Given the description of an element on the screen output the (x, y) to click on. 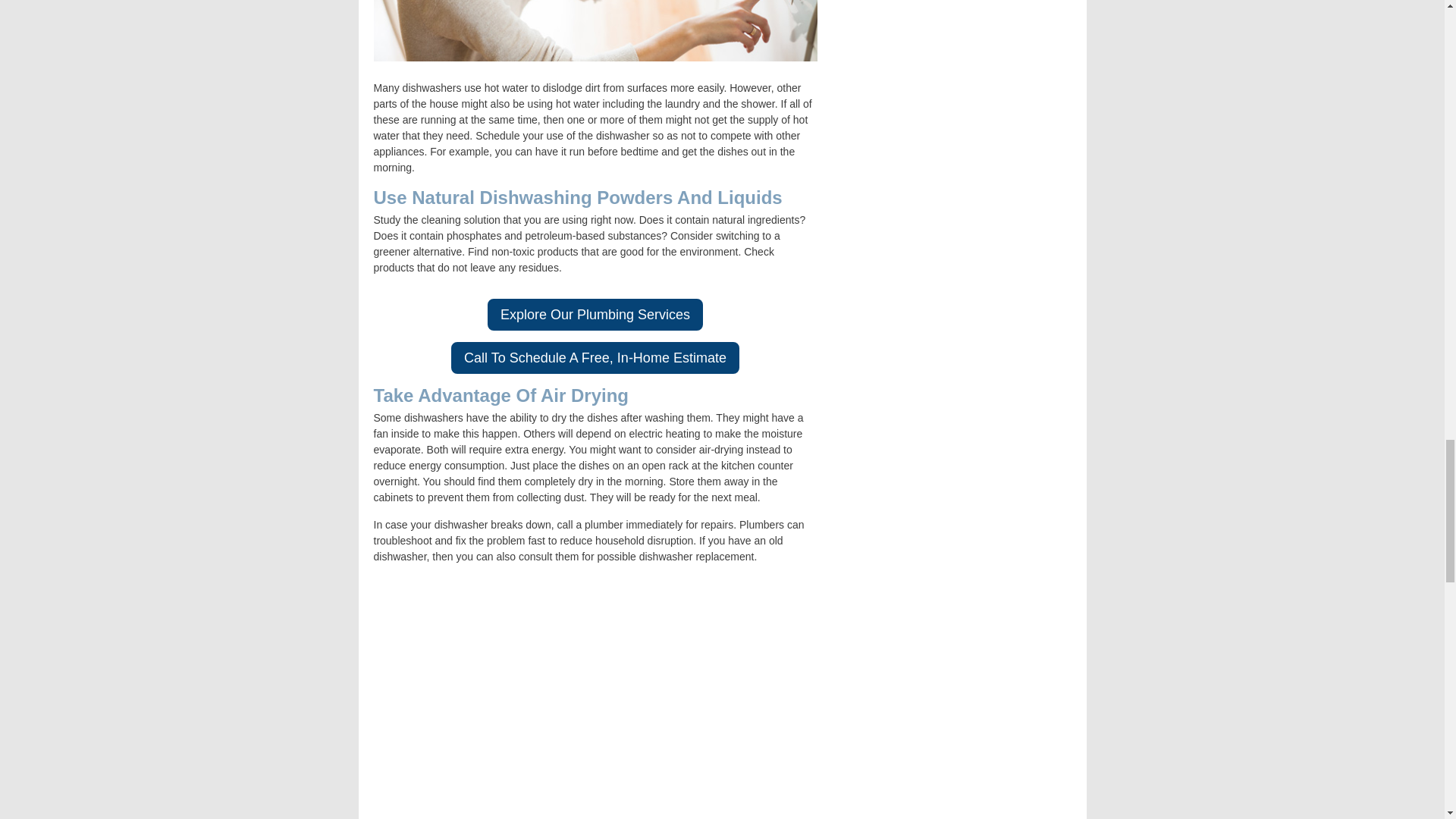
Explore Our Plumbing Services (595, 314)
Call To Schedule A Free, In-Home Estimate (595, 357)
